Given the description of an element on the screen output the (x, y) to click on. 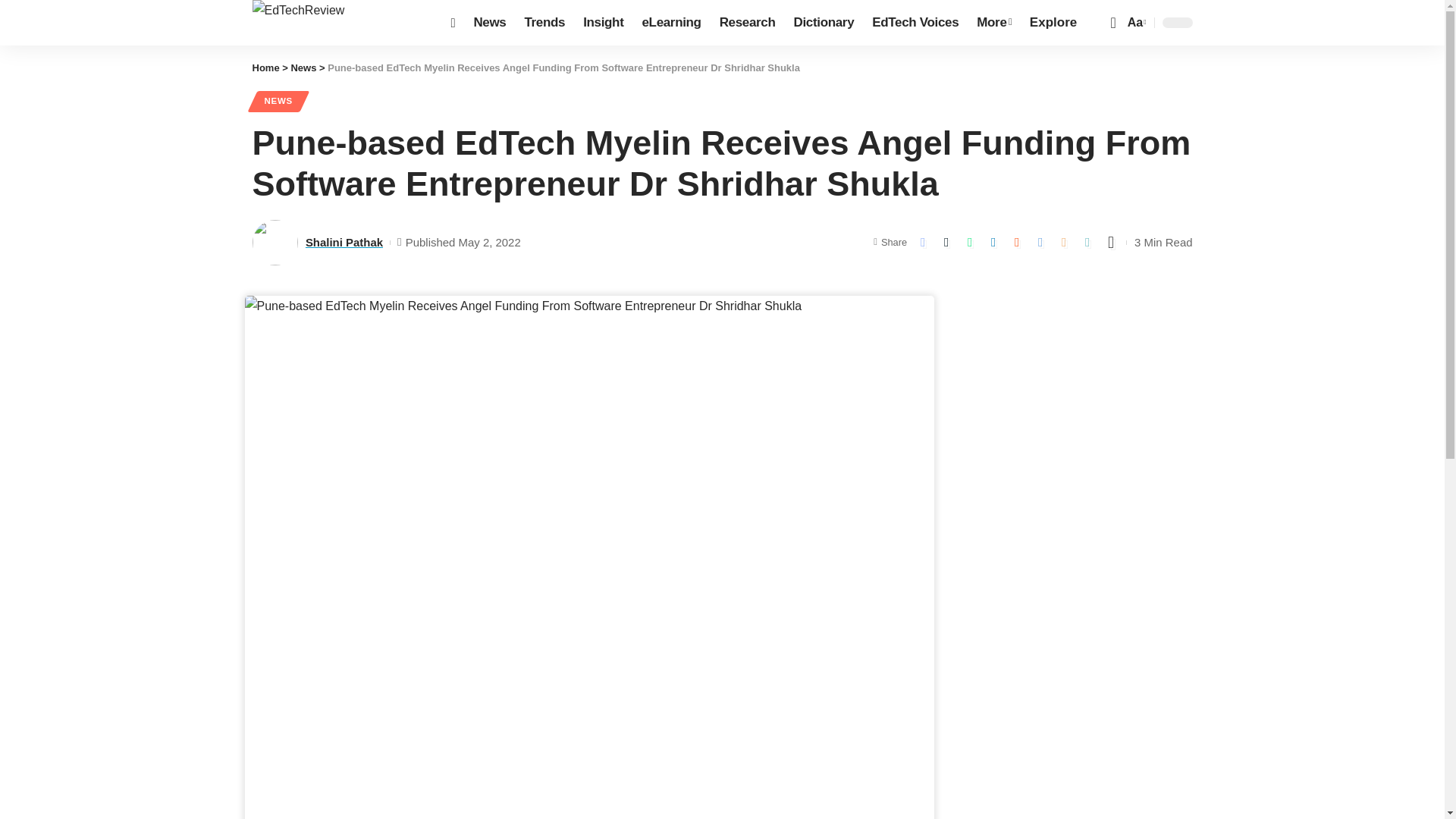
Shalini-pathak (274, 242)
Explore (1053, 22)
Insight (602, 22)
Trends (544, 22)
eLearning (670, 22)
Go to the News Category archives. (302, 67)
More (994, 22)
Dictionary (823, 22)
EdTechReview (338, 22)
Research (747, 22)
News (489, 22)
Go to EdTechReview. (265, 67)
EdTech Voices (915, 22)
